Given the description of an element on the screen output the (x, y) to click on. 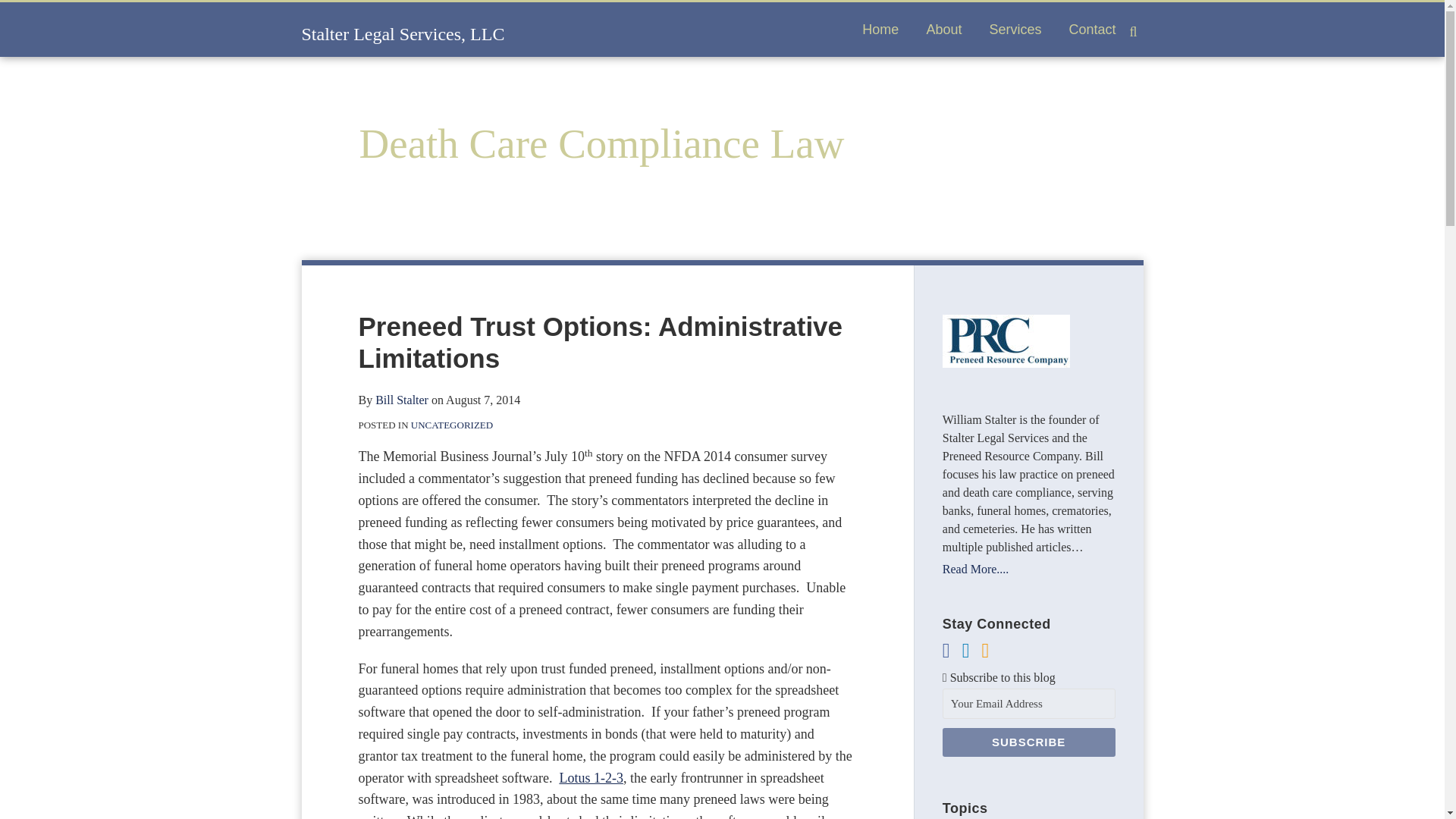
Lotus 1-2-3 (591, 777)
Lotus 1-2-3 (591, 777)
About (943, 29)
Stalter Legal Services, LLC (403, 34)
Subscribe (1028, 742)
Contact (1091, 29)
Read More.... (1028, 569)
UNCATEGORIZED (451, 424)
Home (879, 29)
Death Care Compliance Law (601, 143)
Subscribe (1028, 742)
Bill Stalter (401, 399)
Services (1014, 29)
